Given the description of an element on the screen output the (x, y) to click on. 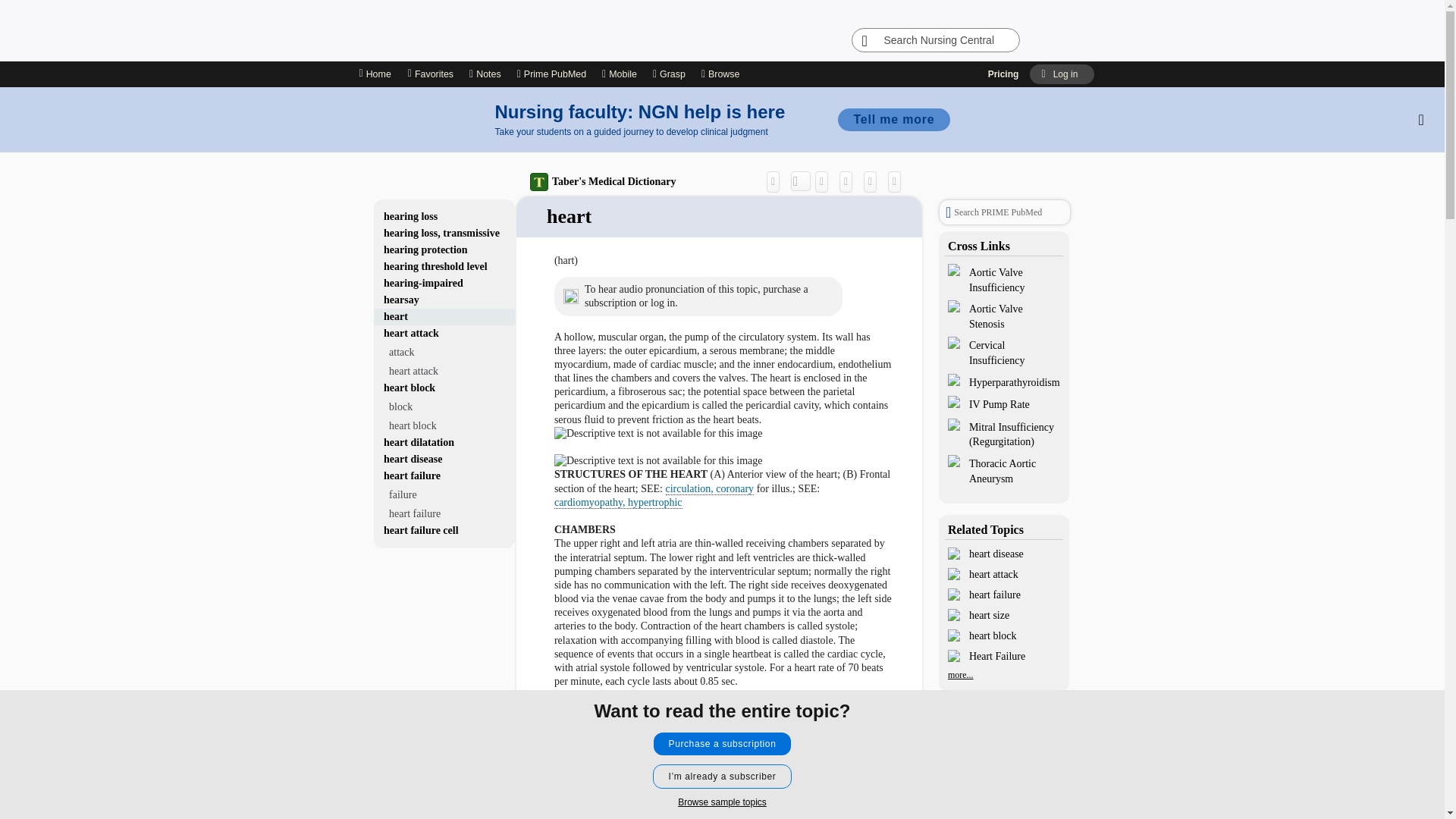
Share (777, 180)
Search Taber's Medical Dictionary (800, 180)
Print PDF (850, 180)
Cervical Insufficiency (1003, 351)
Favorite (873, 180)
Home (375, 73)
Home (373, 73)
Favorites (429, 73)
Notes (484, 73)
Mobile (619, 73)
Browse (722, 73)
Notes (484, 73)
Tag Record (898, 180)
Grasp (668, 73)
Pricing (1003, 73)
